Given the description of an element on the screen output the (x, y) to click on. 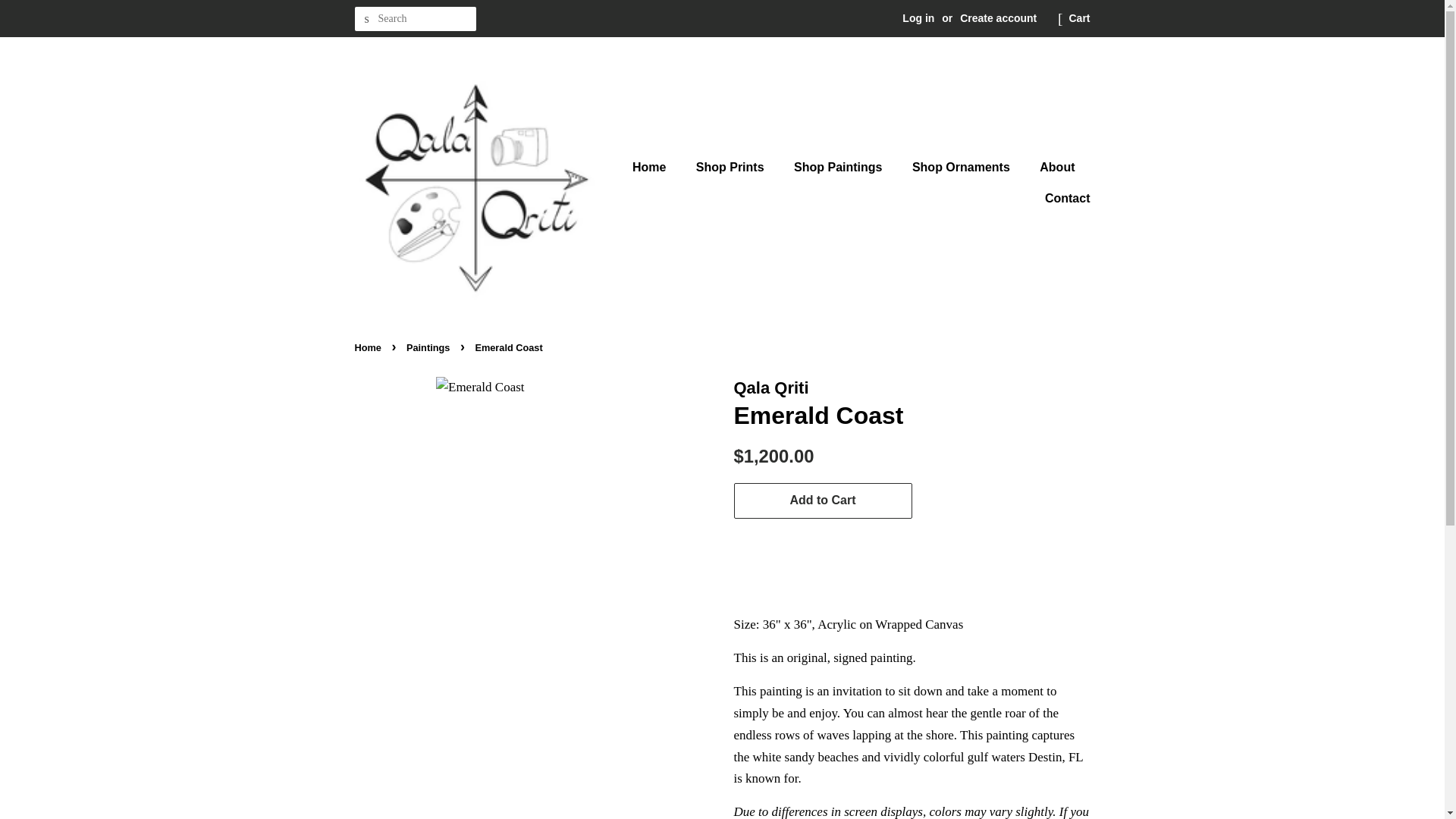
Paintings (429, 347)
Create account (997, 18)
Back to the frontpage (370, 347)
About (1058, 166)
Add to Cart (822, 500)
Home (370, 347)
Shop Prints (731, 166)
Shop Paintings (839, 166)
Contact (1061, 197)
Search (366, 18)
Home (656, 166)
Log in (918, 18)
Shop Ornaments (963, 166)
Cart (1078, 18)
